Given the description of an element on the screen output the (x, y) to click on. 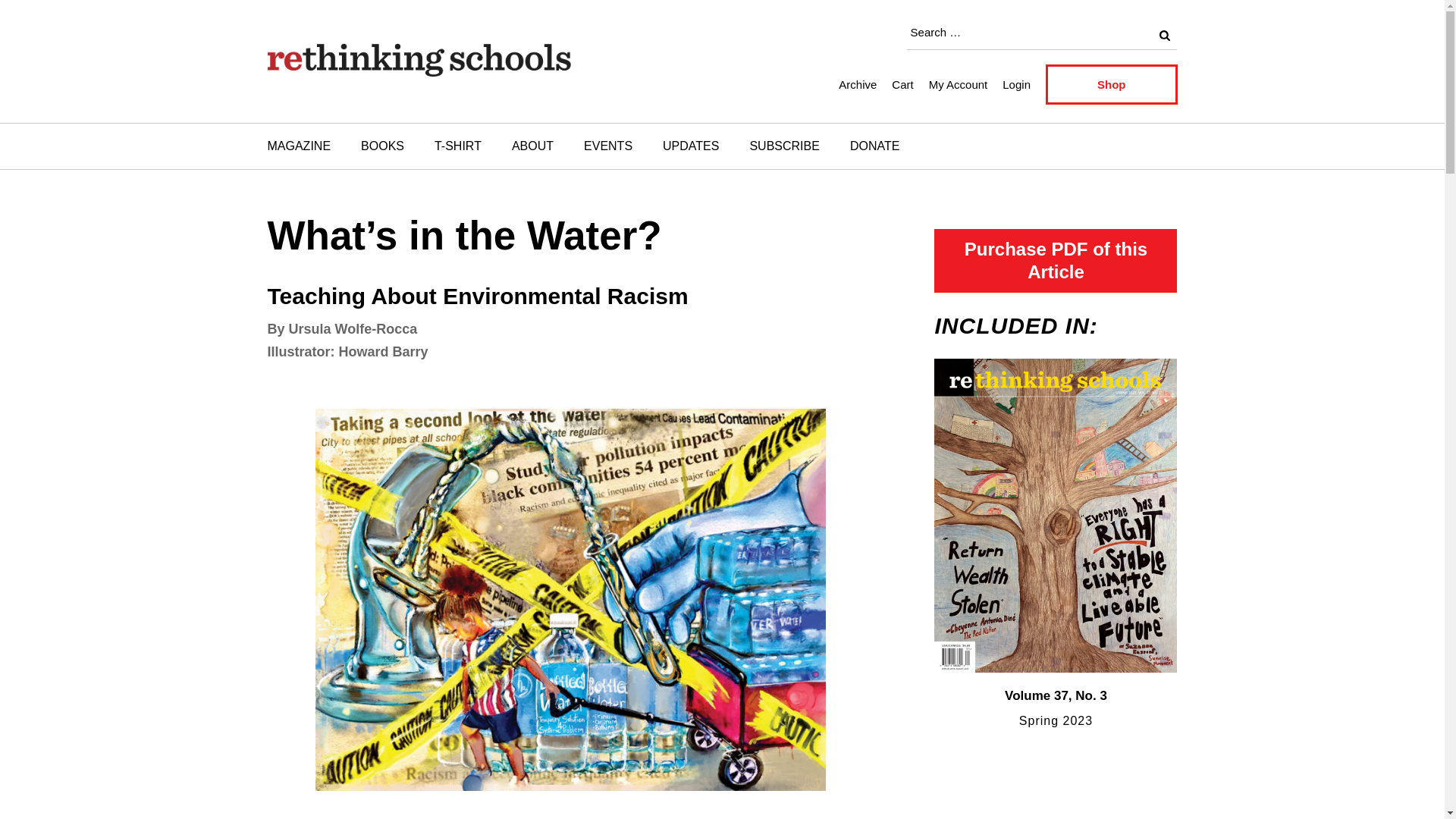
SUBSCRIBE (783, 146)
MAGAZINE (298, 146)
Cart (901, 83)
Shop (1111, 84)
T-SHIRT (457, 146)
Archive (857, 83)
Search (1163, 35)
My Account (958, 83)
Rethinking Schools (400, 102)
Login (1016, 83)
